Given the description of an element on the screen output the (x, y) to click on. 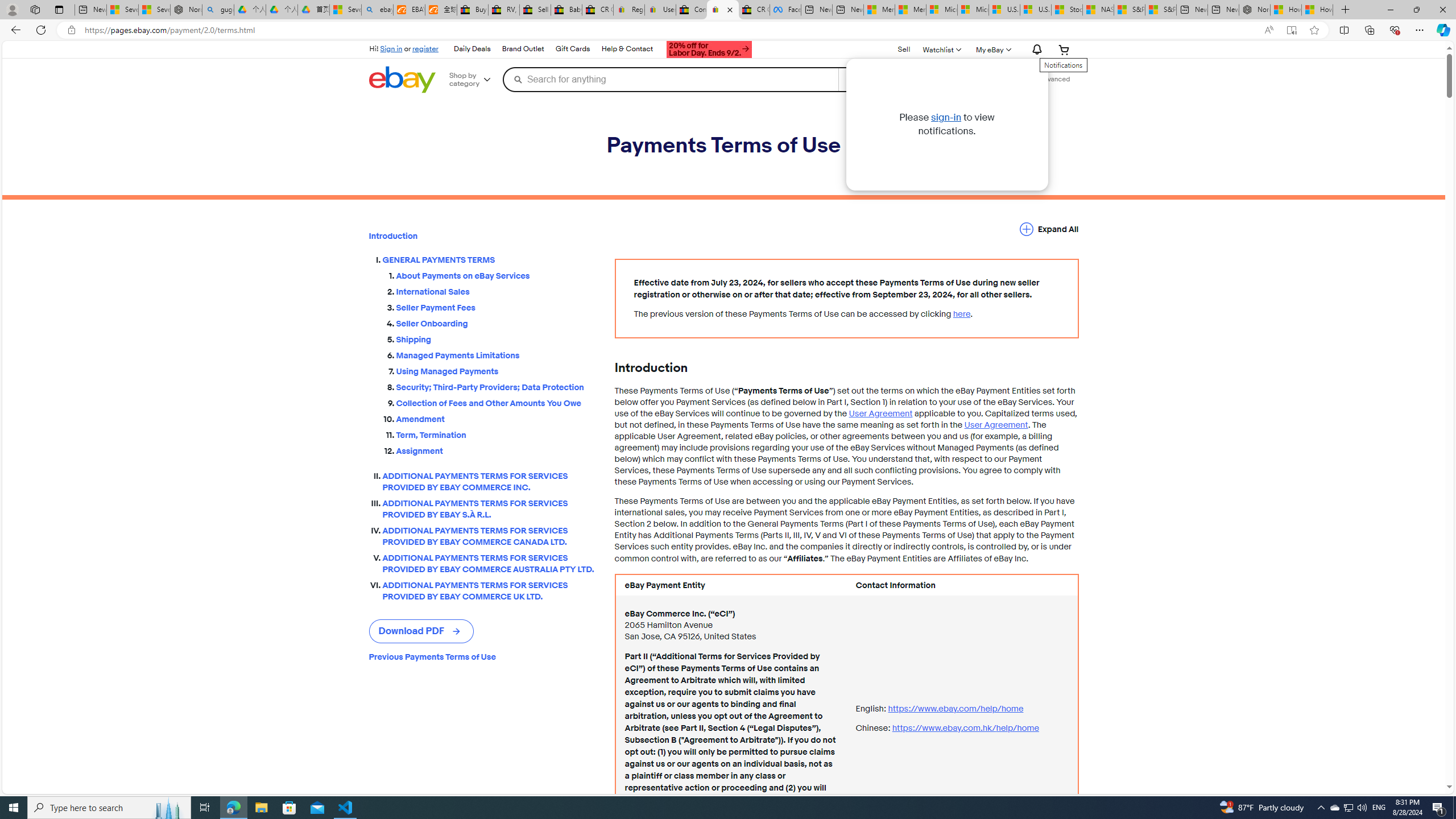
Notifications (1034, 49)
Help & Contact (626, 49)
Get the coupon now (709, 50)
https://www.ebay.com/ help/home (955, 708)
Shipping (496, 339)
How to Use a Monitor With Your Closed Laptop (1317, 9)
Seller Payment Fees (496, 307)
Daily Deals (472, 49)
S&P 500, Nasdaq end lower, weighed by Nvidia dip | Watch (1160, 9)
